Given the description of an element on the screen output the (x, y) to click on. 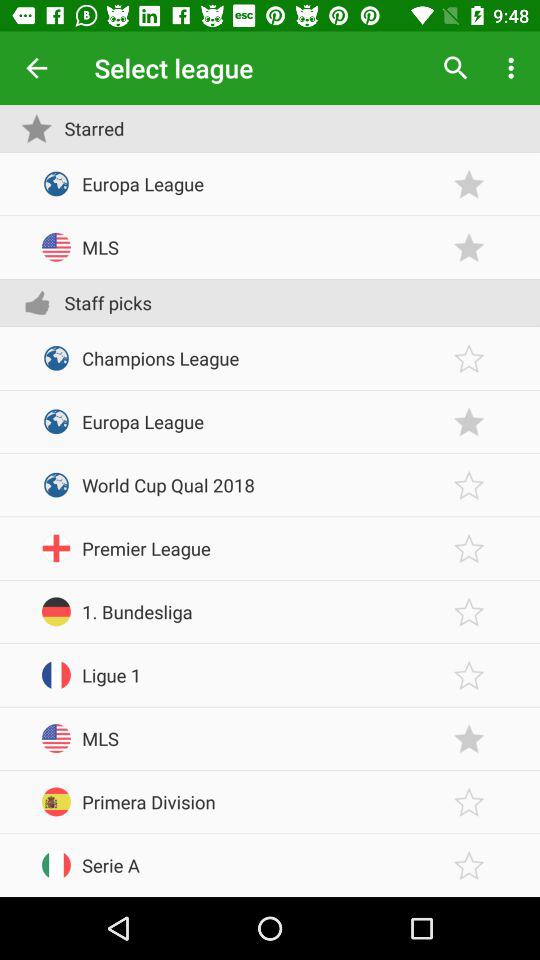
star item button (469, 674)
